Given the description of an element on the screen output the (x, y) to click on. 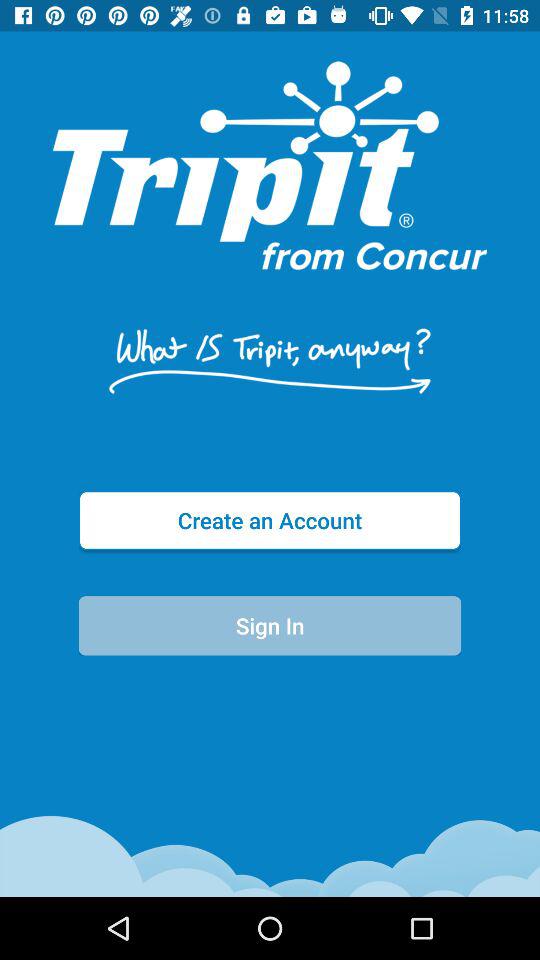
turn off the item above sign in (269, 520)
